Given the description of an element on the screen output the (x, y) to click on. 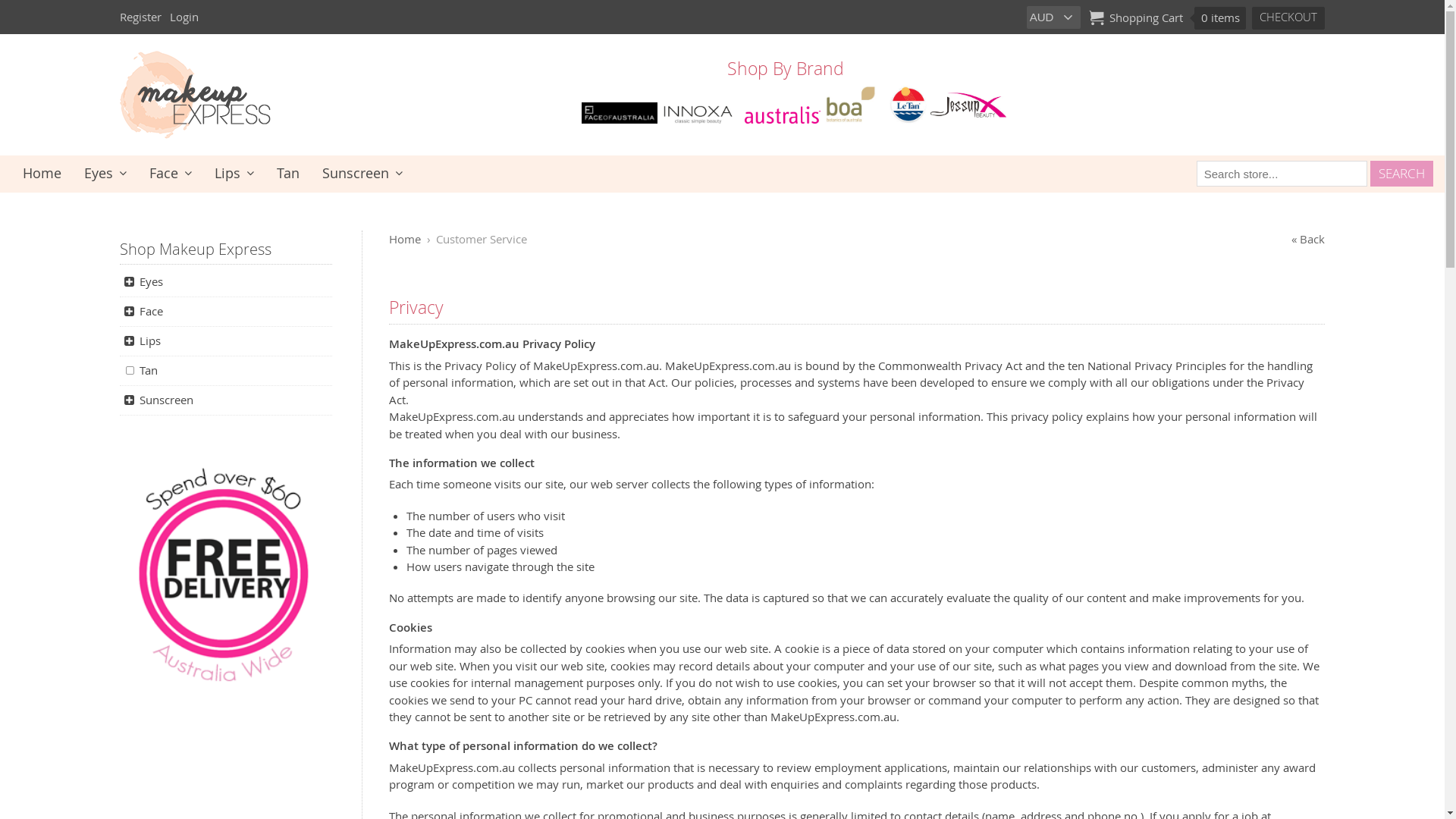
Tan Element type: text (225, 370)
Checkout Element type: text (1288, 17)
Home Element type: text (41, 173)
Sunscreen Element type: text (225, 399)
Face Element type: text (225, 311)
Lips Element type: text (225, 340)
Lips Element type: text (234, 173)
Sunscreen Element type: text (362, 173)
Tan Element type: text (287, 173)
Eyes Element type: text (225, 281)
Home Element type: text (404, 237)
Makeup Express Element type: hover (195, 134)
Login Element type: text (184, 17)
Face Element type: text (170, 173)
Register Element type: text (141, 17)
Eyes Element type: text (105, 173)
Search Element type: text (1401, 173)
Shopping Cart 0 items Element type: text (1167, 17)
Free shipping $60 and over  - Australia wide Element type: hover (225, 582)
